Given the description of an element on the screen output the (x, y) to click on. 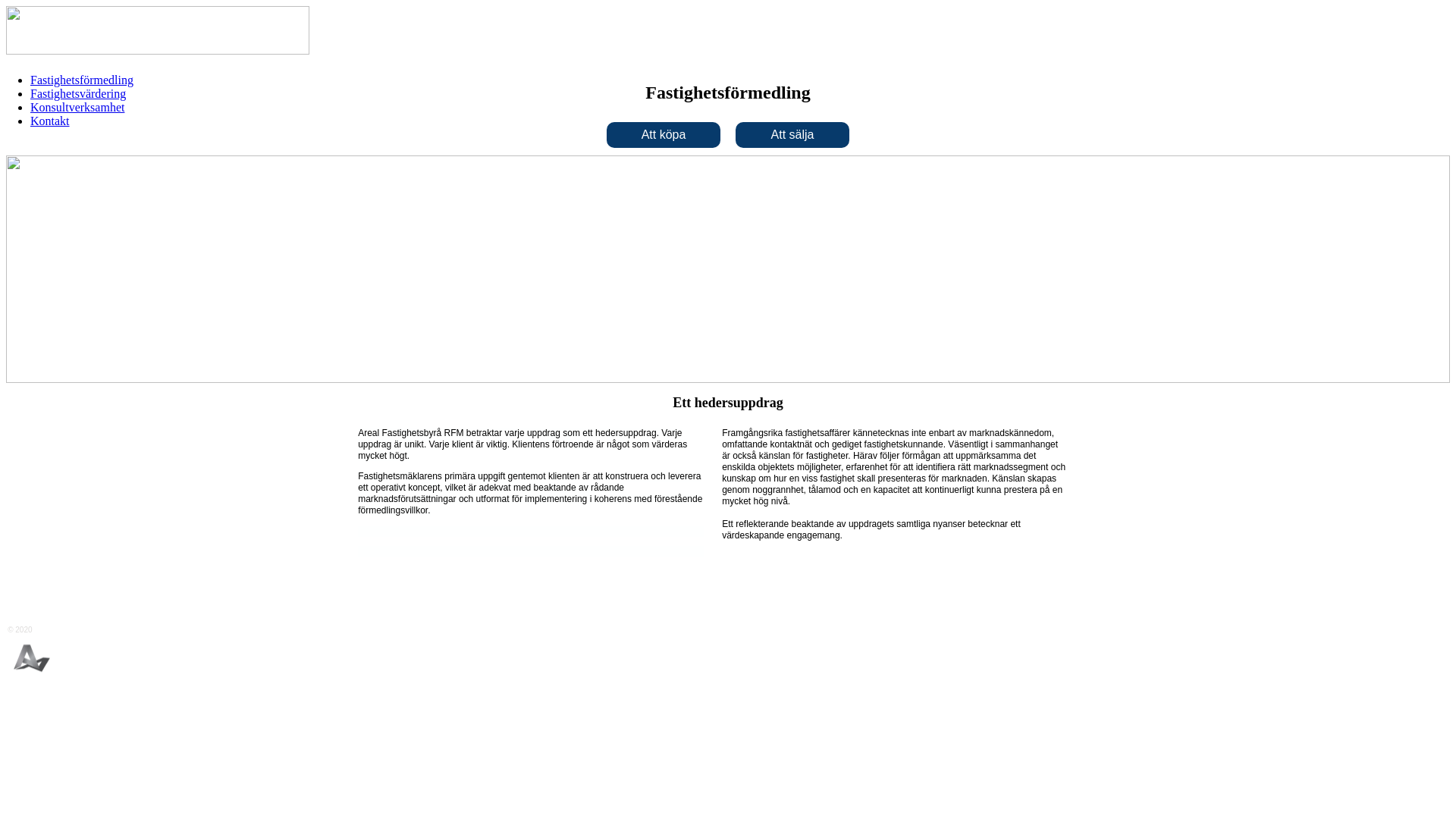
Kontakt Element type: text (49, 120)
Konsultverksamhet Element type: text (77, 106)
